Given the description of an element on the screen output the (x, y) to click on. 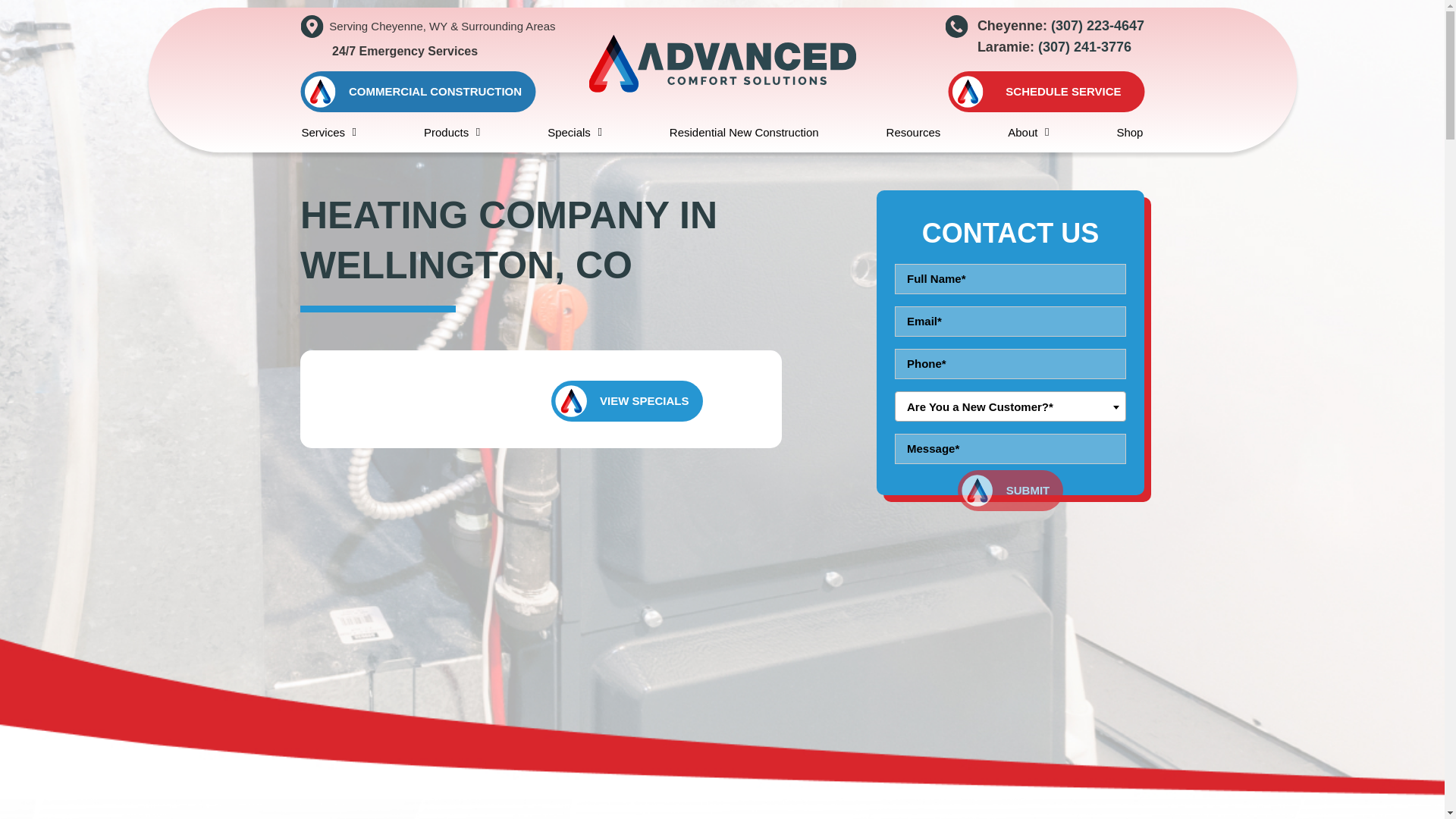
COMMERCIAL CONSTRUCTION (417, 91)
Advanced Comfort Solutions (722, 62)
